Given the description of an element on the screen output the (x, y) to click on. 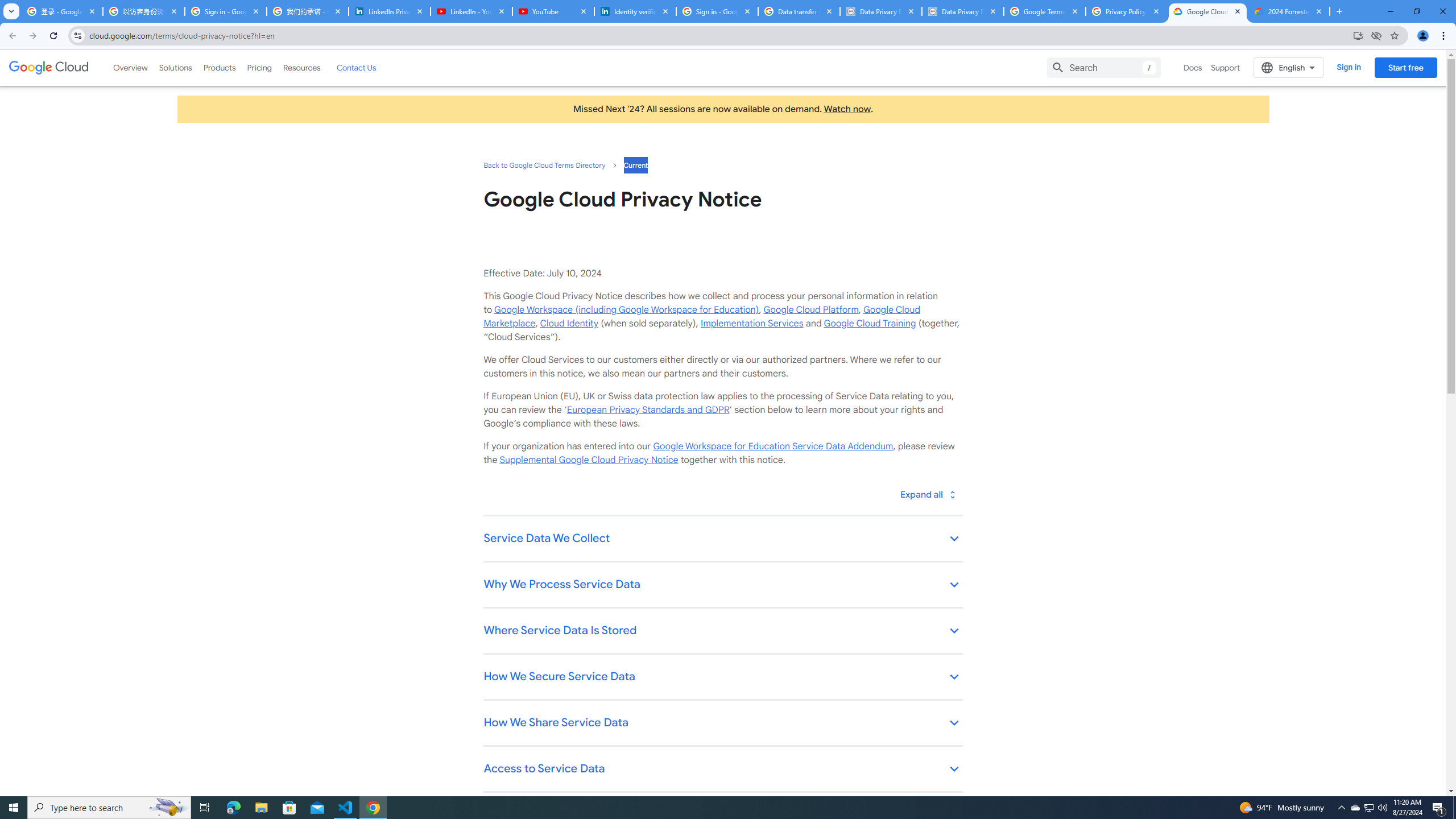
Google Cloud Privacy Notice (1207, 11)
Service Data We Collect keyboard_arrow_down (722, 539)
Google Cloud Platform (810, 309)
How We Secure Service Data keyboard_arrow_down (722, 677)
Implementation Services (751, 323)
Google Workspace for Education Service Data Addendum (772, 446)
Sign in - Google Accounts (716, 11)
European Privacy Standards and GDPR (647, 410)
Data Privacy Framework (963, 11)
LinkedIn - YouTube (470, 11)
How We Share Service Data keyboard_arrow_down (722, 723)
Pricing (259, 67)
